Given the description of an element on the screen output the (x, y) to click on. 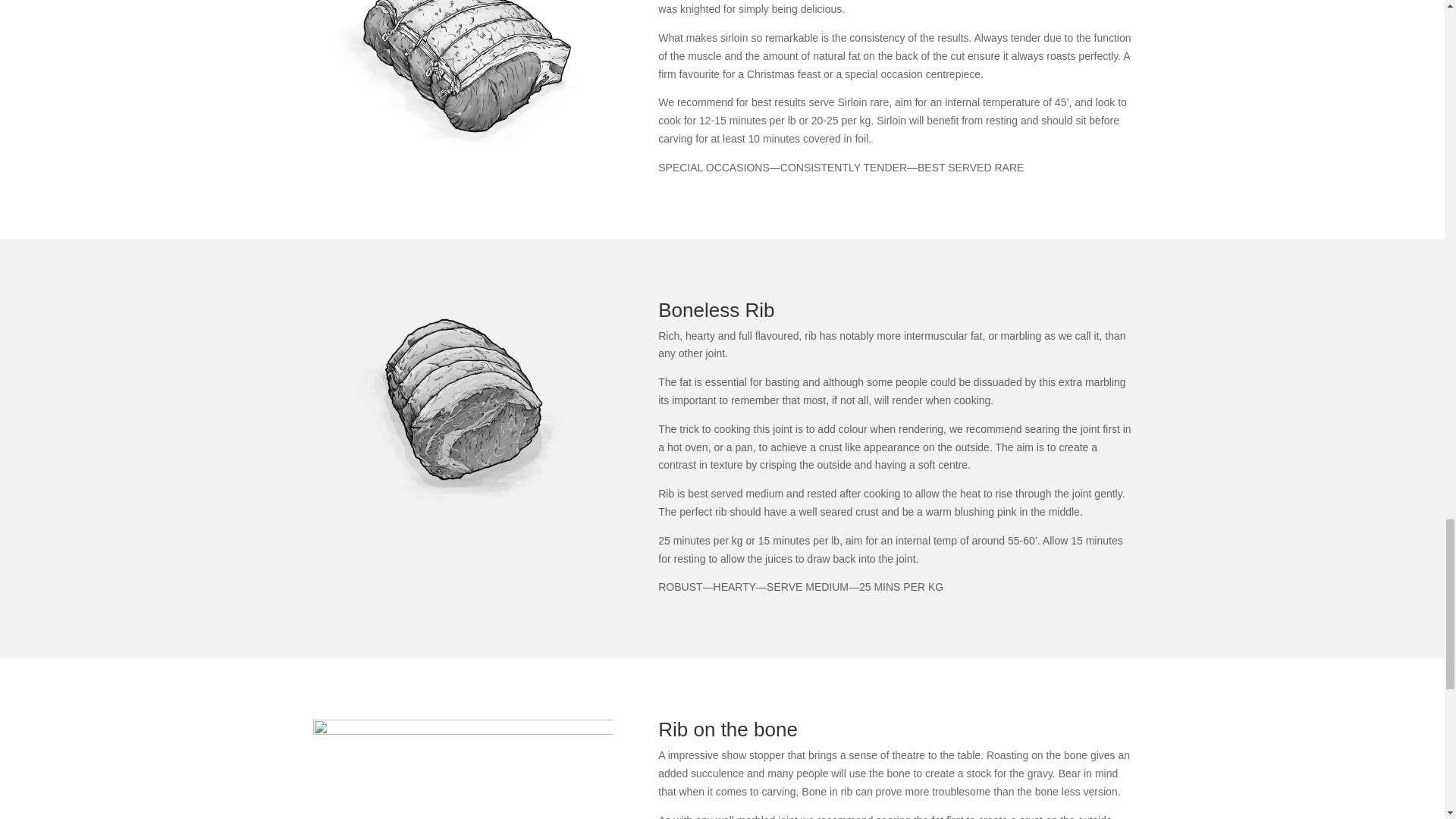
Sirloin (462, 80)
